Given the description of an element on the screen output the (x, y) to click on. 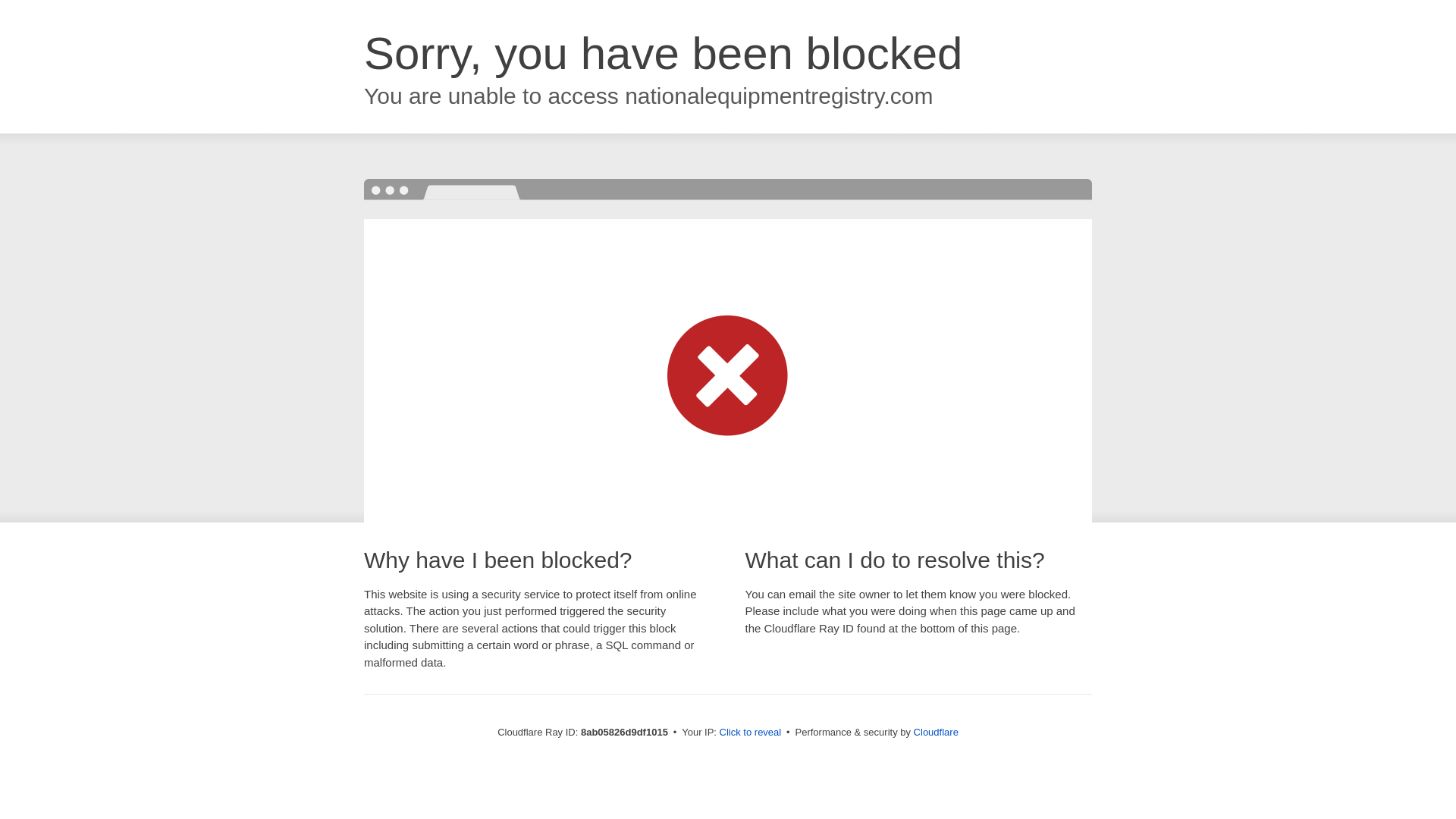
Cloudflare (936, 731)
Click to reveal (750, 732)
